Given the description of an element on the screen output the (x, y) to click on. 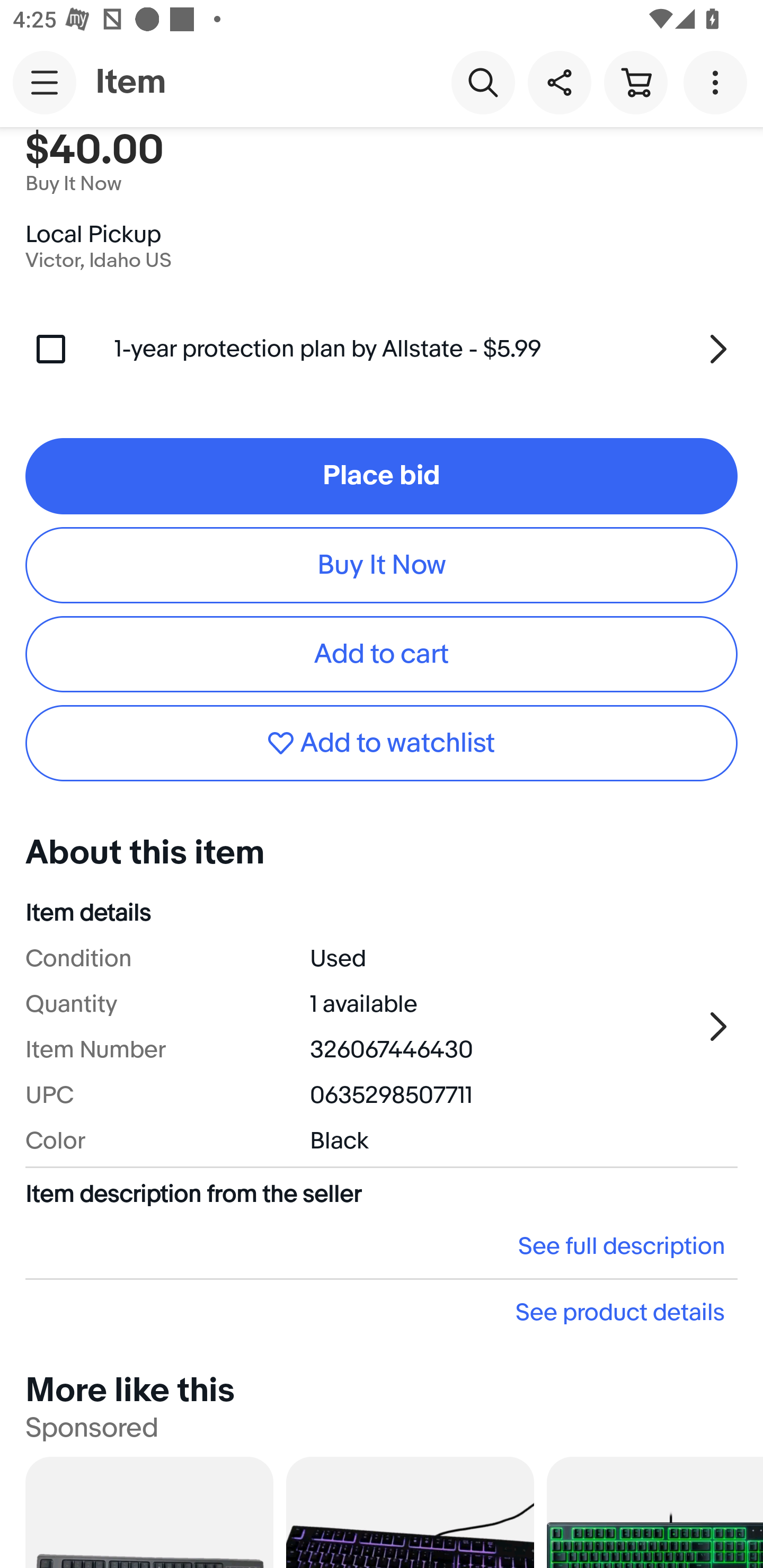
Main navigation, open (44, 82)
Search (482, 81)
Share this item (559, 81)
Cart button shopping cart (635, 81)
More options (718, 81)
1-year protection plan by Allstate - $5.99 (425, 348)
Place bid (381, 475)
Buy It Now (381, 564)
Add to cart (381, 654)
Add to watchlist (381, 742)
See full description (381, 1245)
See product details (381, 1311)
